Given the description of an element on the screen output the (x, y) to click on. 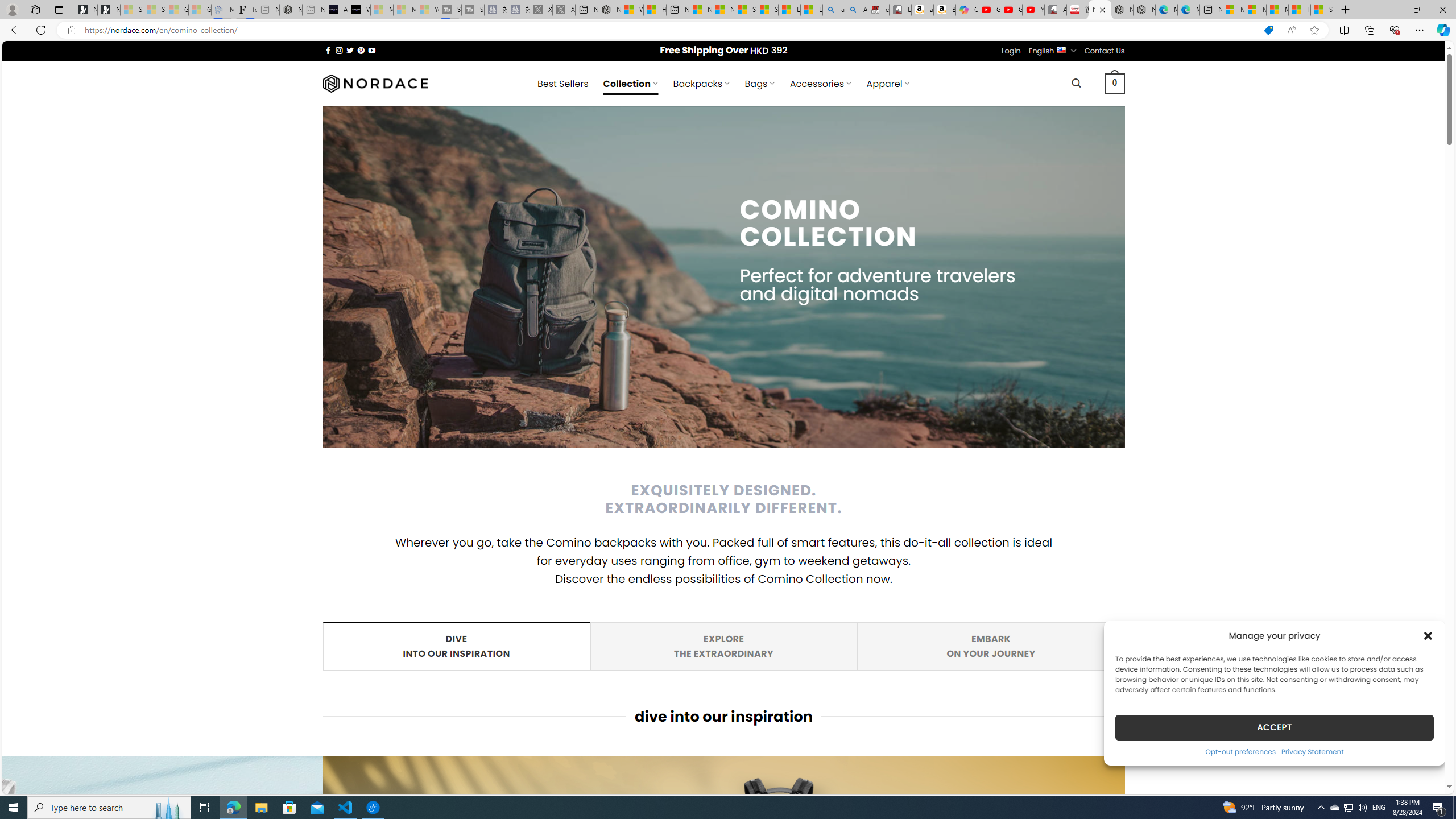
Gloom - YouTube (1010, 9)
Login (991, 645)
EMBARK ON YOUR JOURNEY (1010, 50)
New tab - Sleeping (991, 645)
I Gained 20 Pounds of Muscle in 30 Days! | Watch (313, 9)
Newsletter Sign Up (1300, 9)
